Given the description of an element on the screen output the (x, y) to click on. 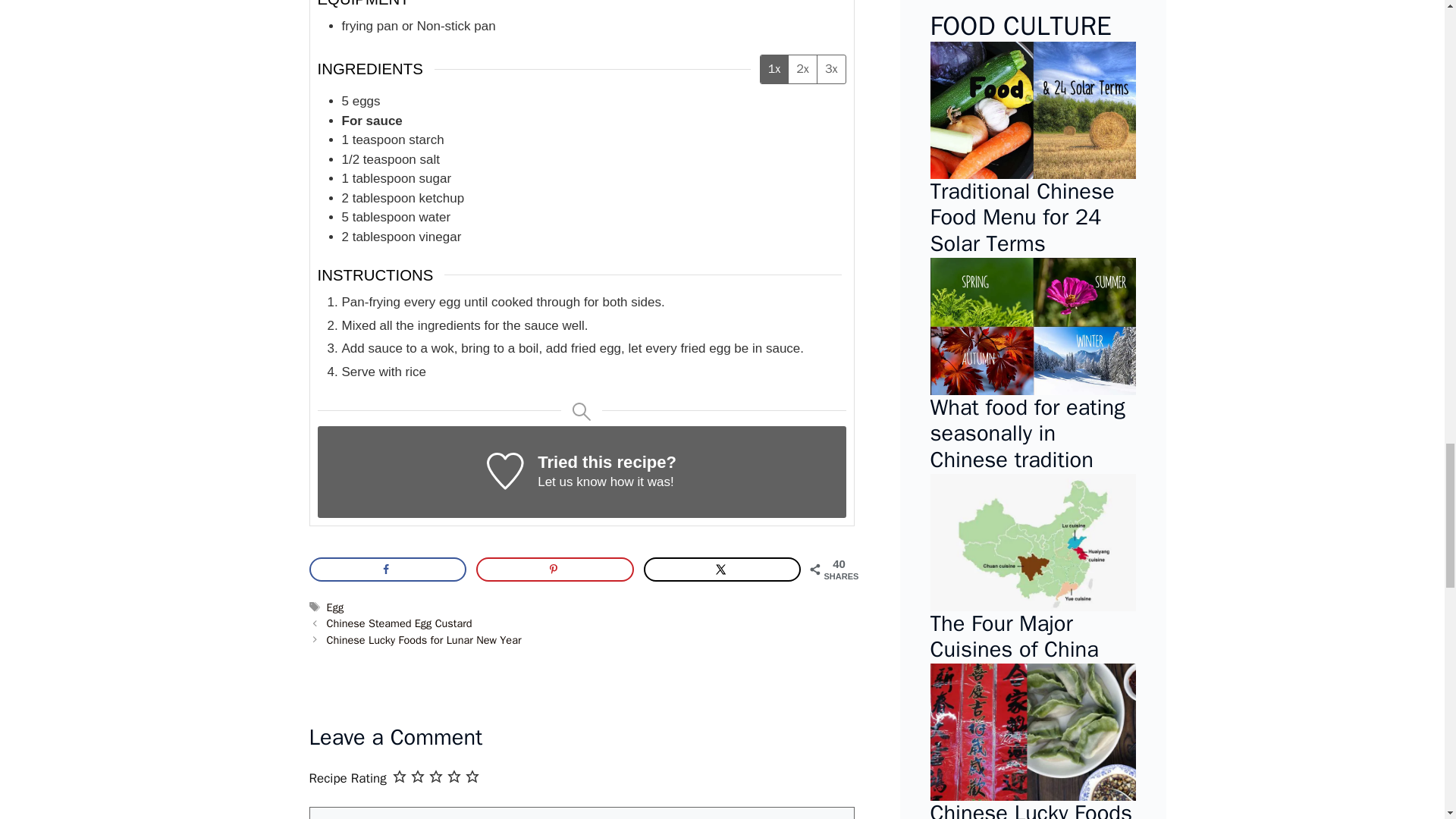
Share on Facebook (387, 569)
Share on X (722, 569)
Save to Pinterest (554, 569)
